Given the description of an element on the screen output the (x, y) to click on. 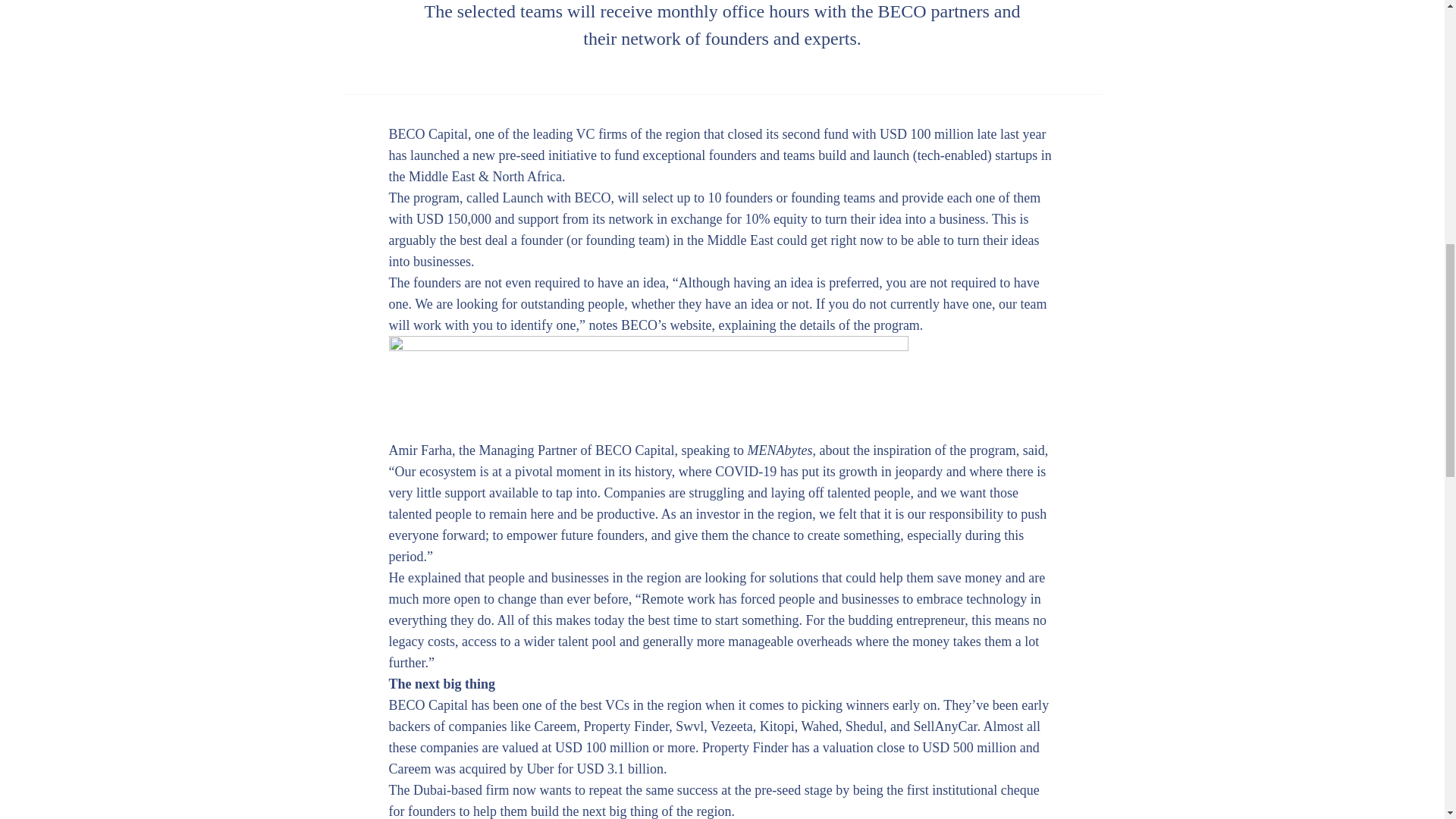
Launch with BECO (556, 197)
close to USD 500 million (946, 747)
with USD 100 million (912, 133)
BECO Capital (427, 704)
